Given the description of an element on the screen output the (x, y) to click on. 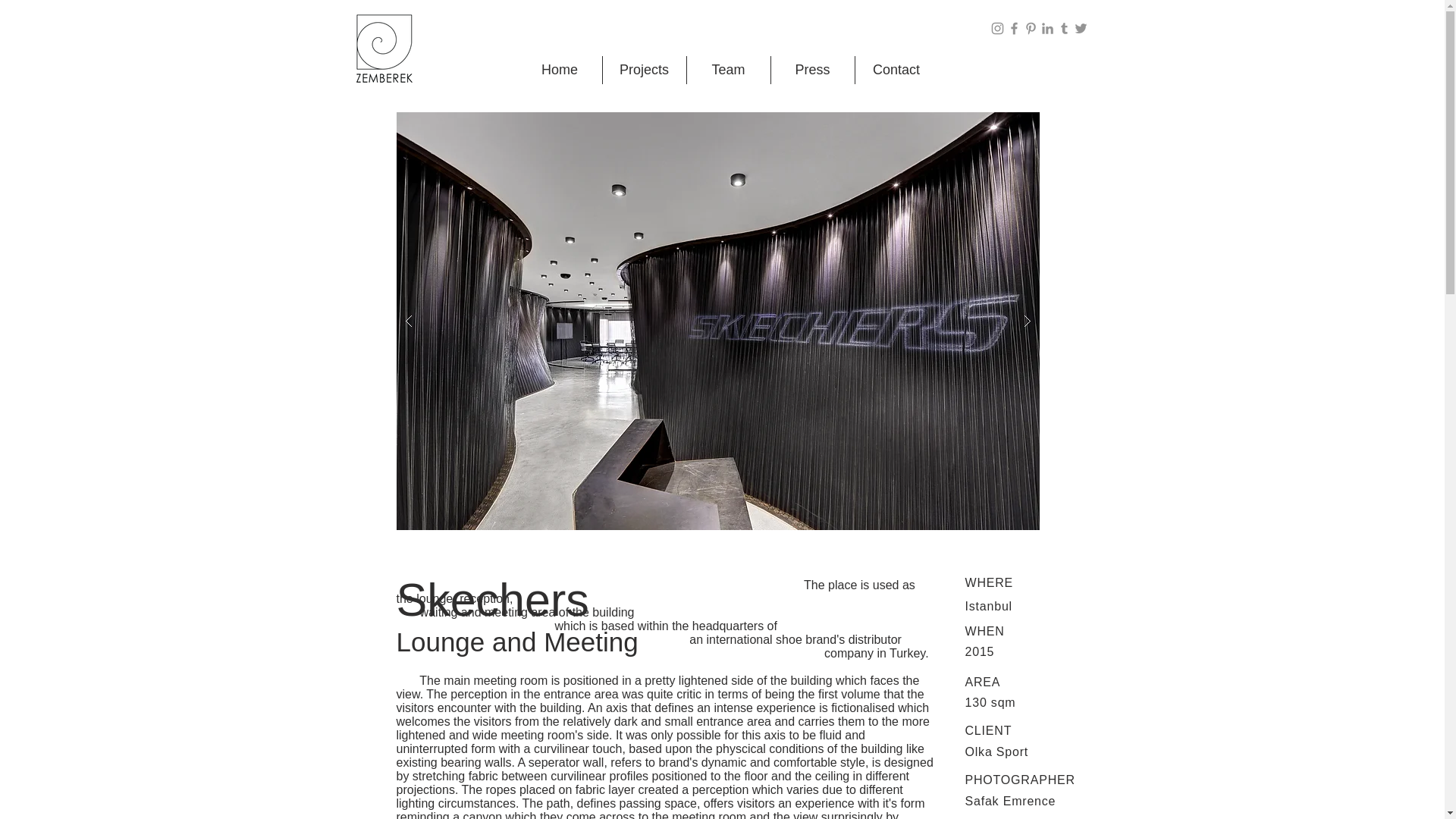
Press (812, 70)
Home (558, 70)
Contact (895, 70)
Projects (643, 70)
Team (727, 70)
